Given the description of an element on the screen output the (x, y) to click on. 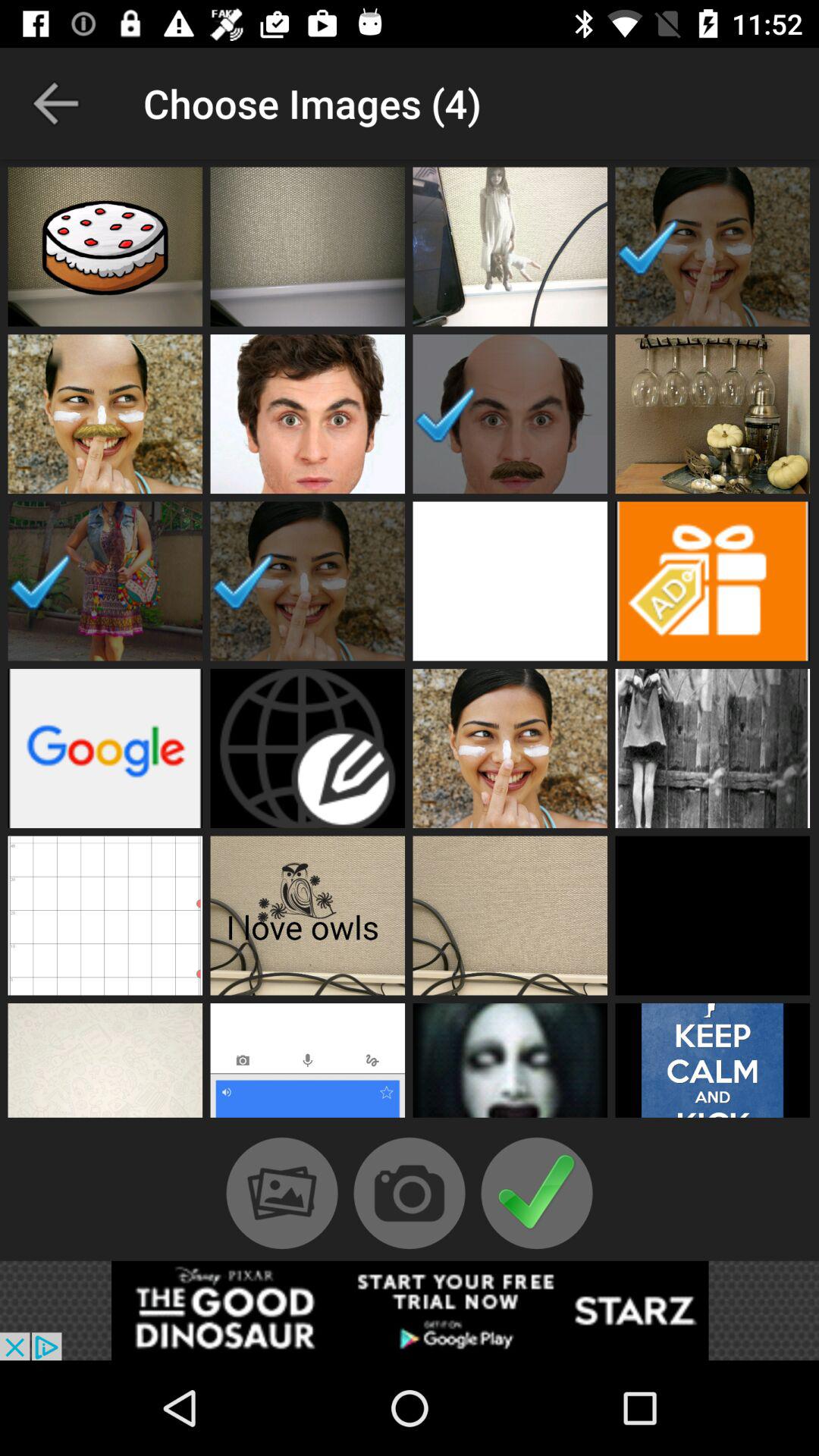
choose image (509, 748)
